Given the description of an element on the screen output the (x, y) to click on. 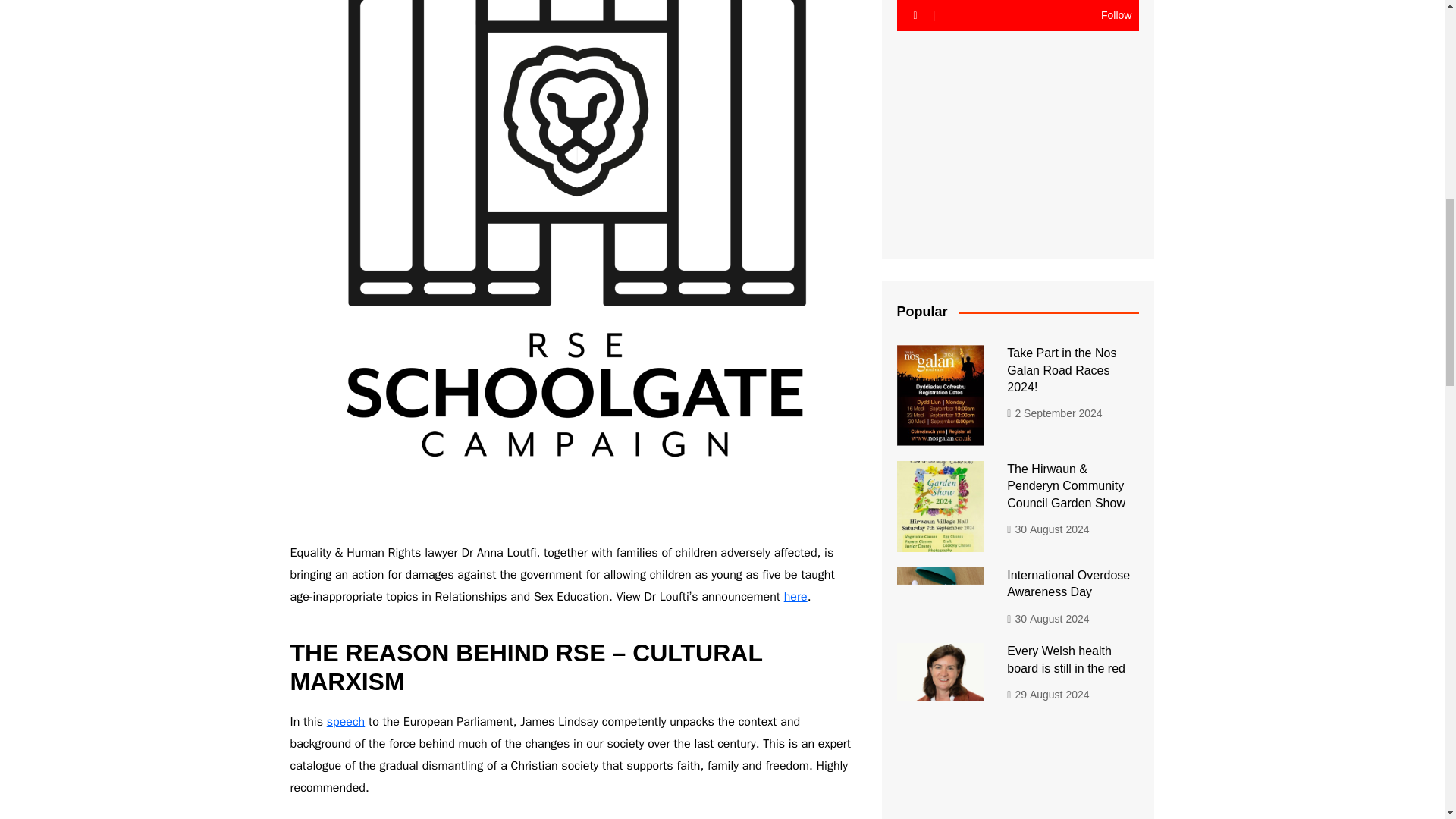
speech (345, 721)
here (796, 596)
Advertisement (1017, 133)
